Given the description of an element on the screen output the (x, y) to click on. 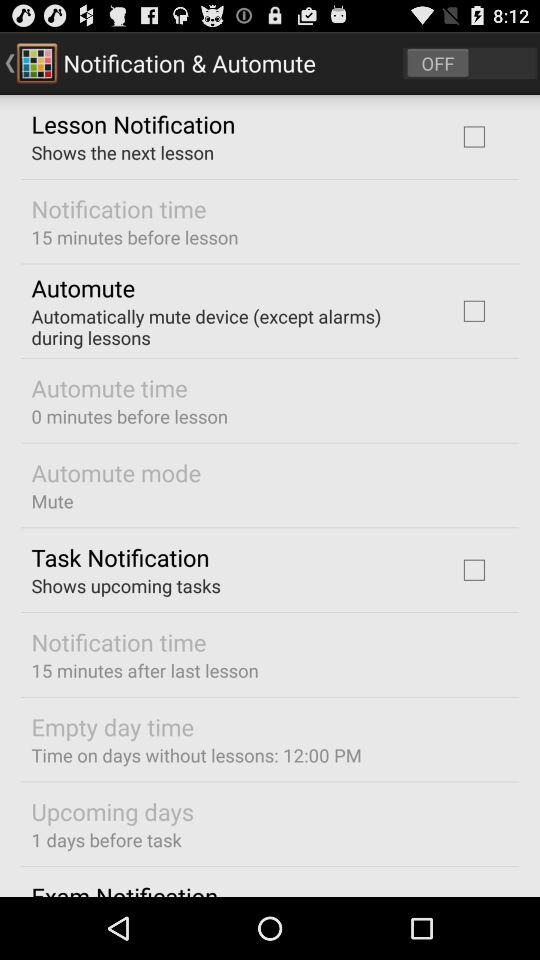
turn off the empty day time icon (112, 726)
